Given the description of an element on the screen output the (x, y) to click on. 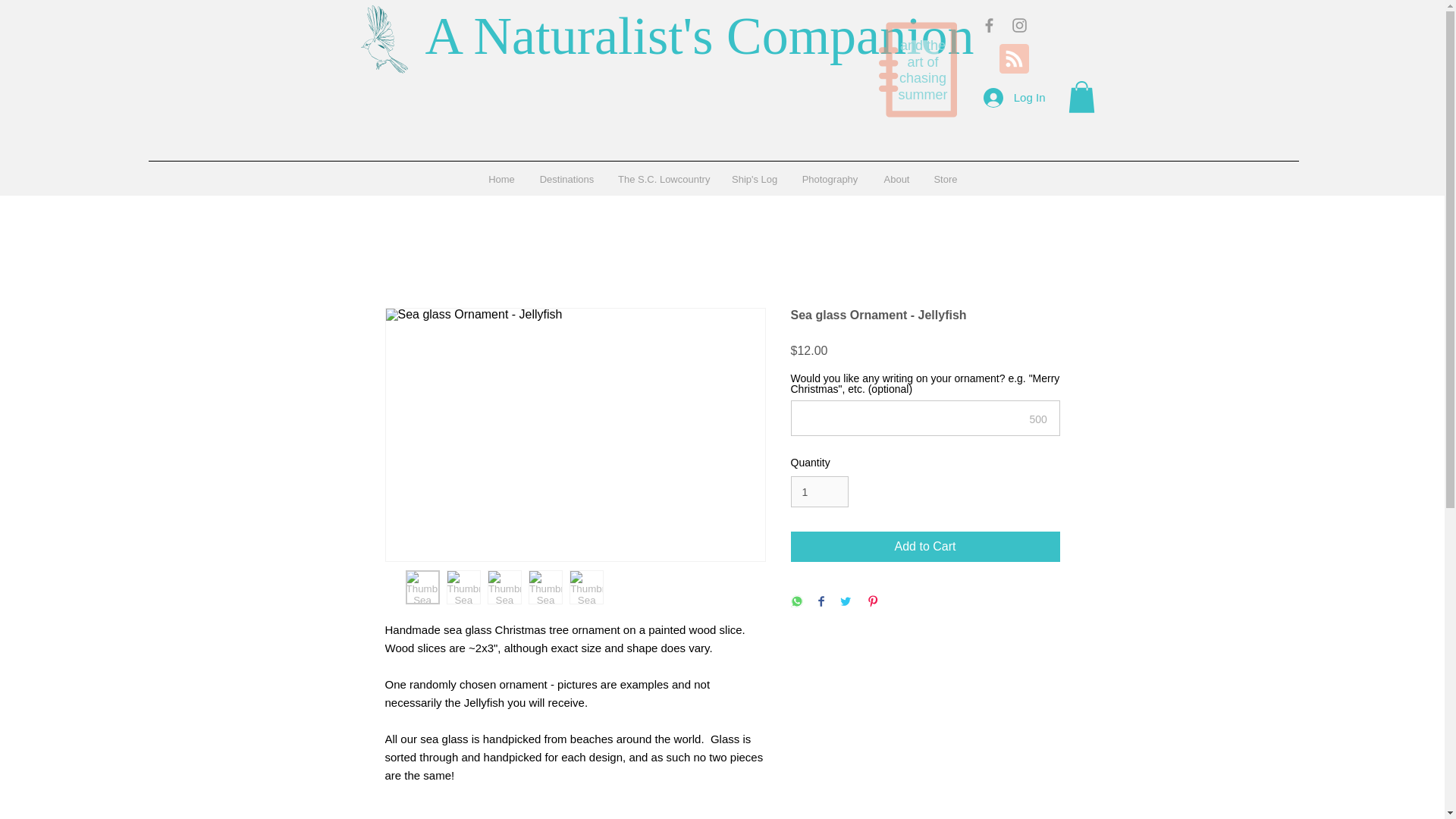
Photography (829, 178)
Store (945, 178)
Destinations (567, 178)
A Naturalist's Companion (699, 35)
The S.C. Lowcountry (663, 178)
About (895, 178)
1 (818, 490)
Ship's Log (754, 178)
Home (501, 178)
Log In (1014, 97)
Add to Cart (924, 546)
